Given the description of an element on the screen output the (x, y) to click on. 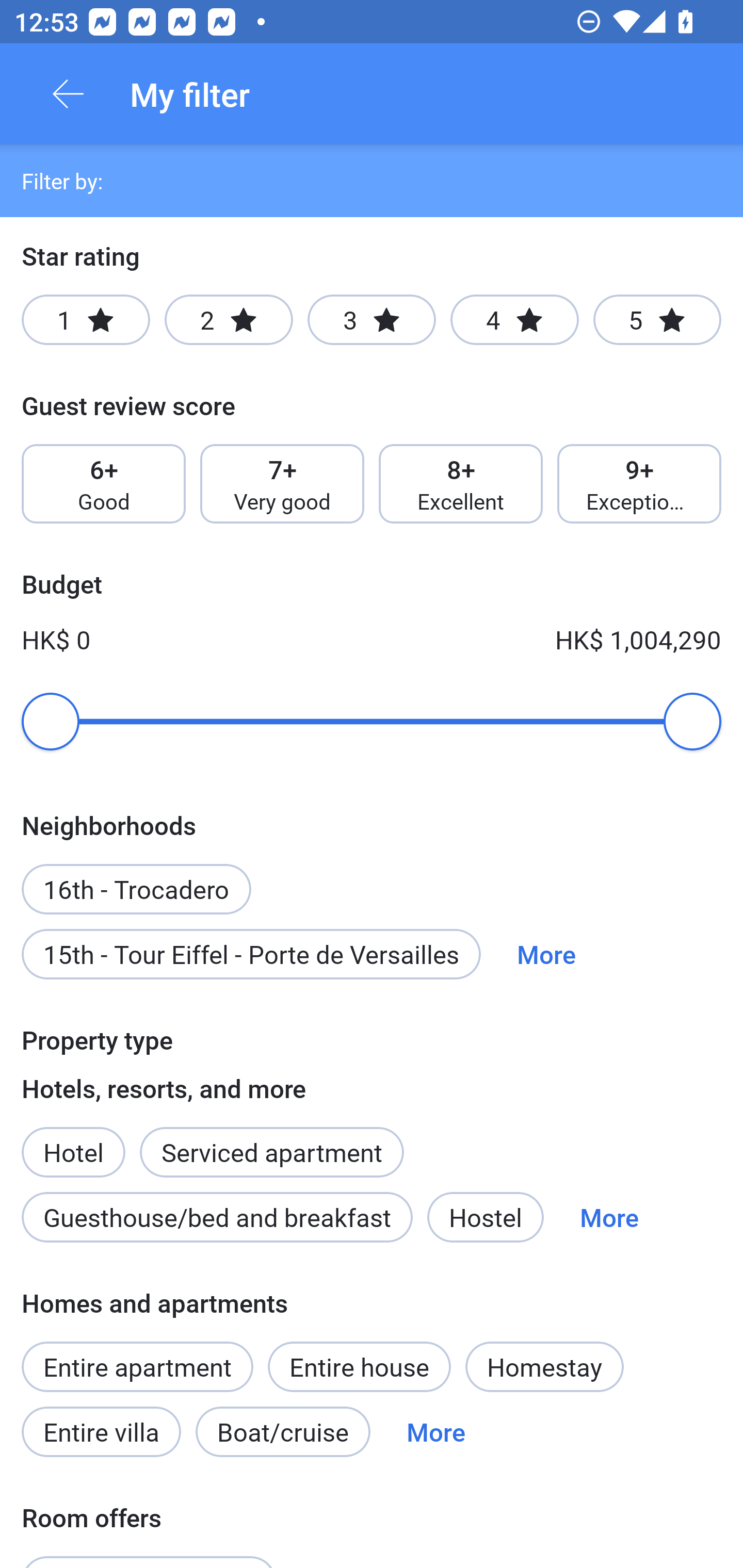
1 (85, 319)
2 (228, 319)
3 (371, 319)
4 (514, 319)
5 (657, 319)
6+ Good (103, 483)
7+ Very good (281, 483)
8+ Excellent (460, 483)
9+ Exceptional (639, 483)
16th - Trocadero (136, 878)
15th - Tour Eiffel - Porte de Versailles (250, 954)
More (546, 954)
Hotel (73, 1141)
Serviced apartment (271, 1141)
Guesthouse/bed and breakfast (217, 1217)
Hostel (485, 1217)
More (608, 1217)
Entire apartment (137, 1366)
Entire house (359, 1366)
Homestay (544, 1366)
Entire villa (101, 1432)
Boat/cruise (282, 1432)
More (435, 1432)
